Given the description of an element on the screen output the (x, y) to click on. 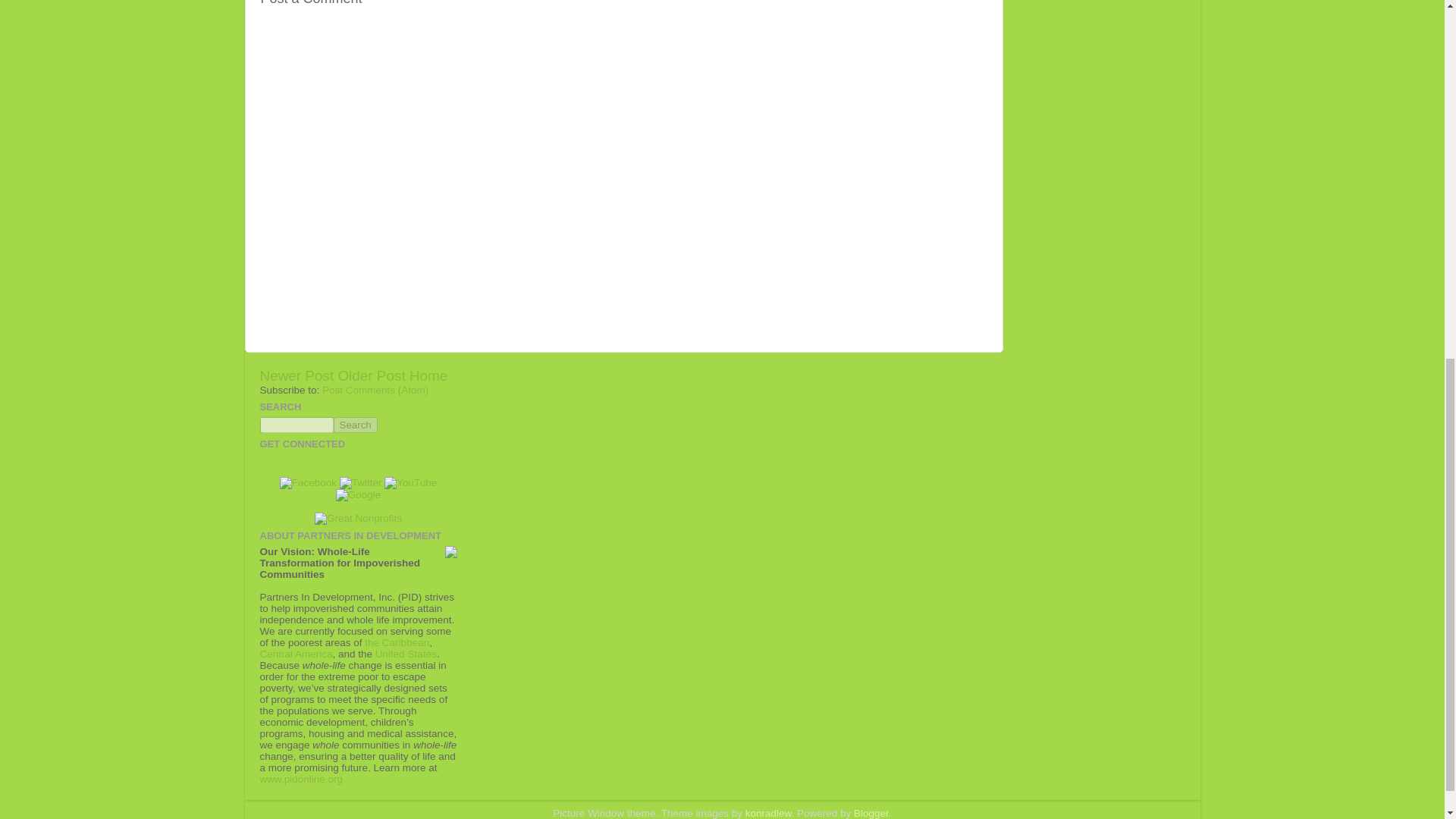
Newer Post (296, 375)
search (296, 424)
Newer Post (296, 375)
Older Post (370, 375)
search (355, 424)
Home (427, 375)
Search (355, 424)
Search (355, 424)
United States (405, 654)
www.pidonline.org (300, 778)
the Caribbean (397, 642)
Older Post (370, 375)
Search (355, 424)
Central America (295, 654)
